Given the description of an element on the screen output the (x, y) to click on. 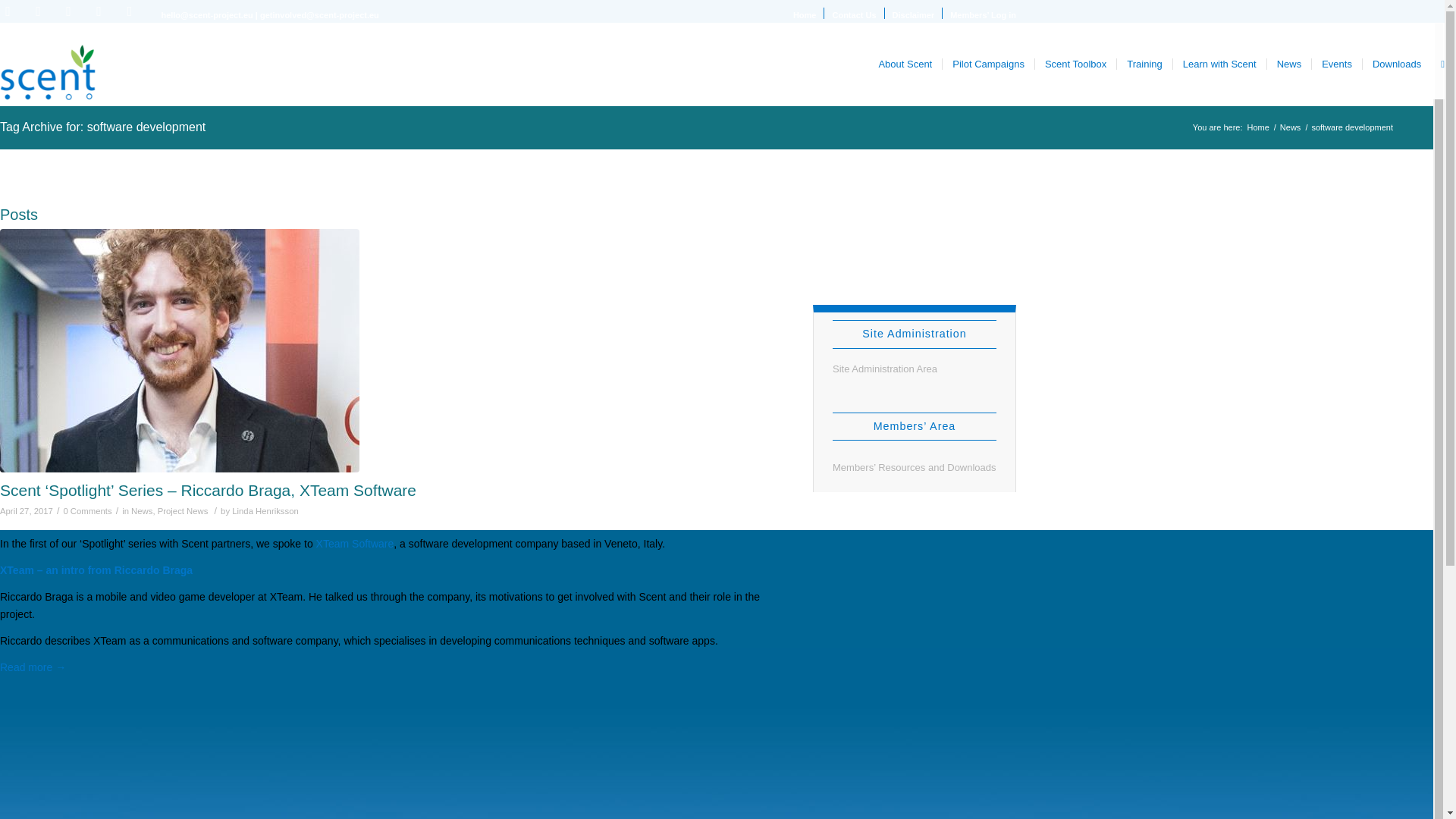
Twitter (11, 11)
Permanent Link: Tag Archive for: software development (102, 126)
Scent (1257, 127)
News (1290, 127)
Youtube (37, 11)
Facebook (67, 11)
Instagram (129, 11)
Posts by Linda Henriksson (264, 510)
Linkedin (98, 11)
